Given the description of an element on the screen output the (x, y) to click on. 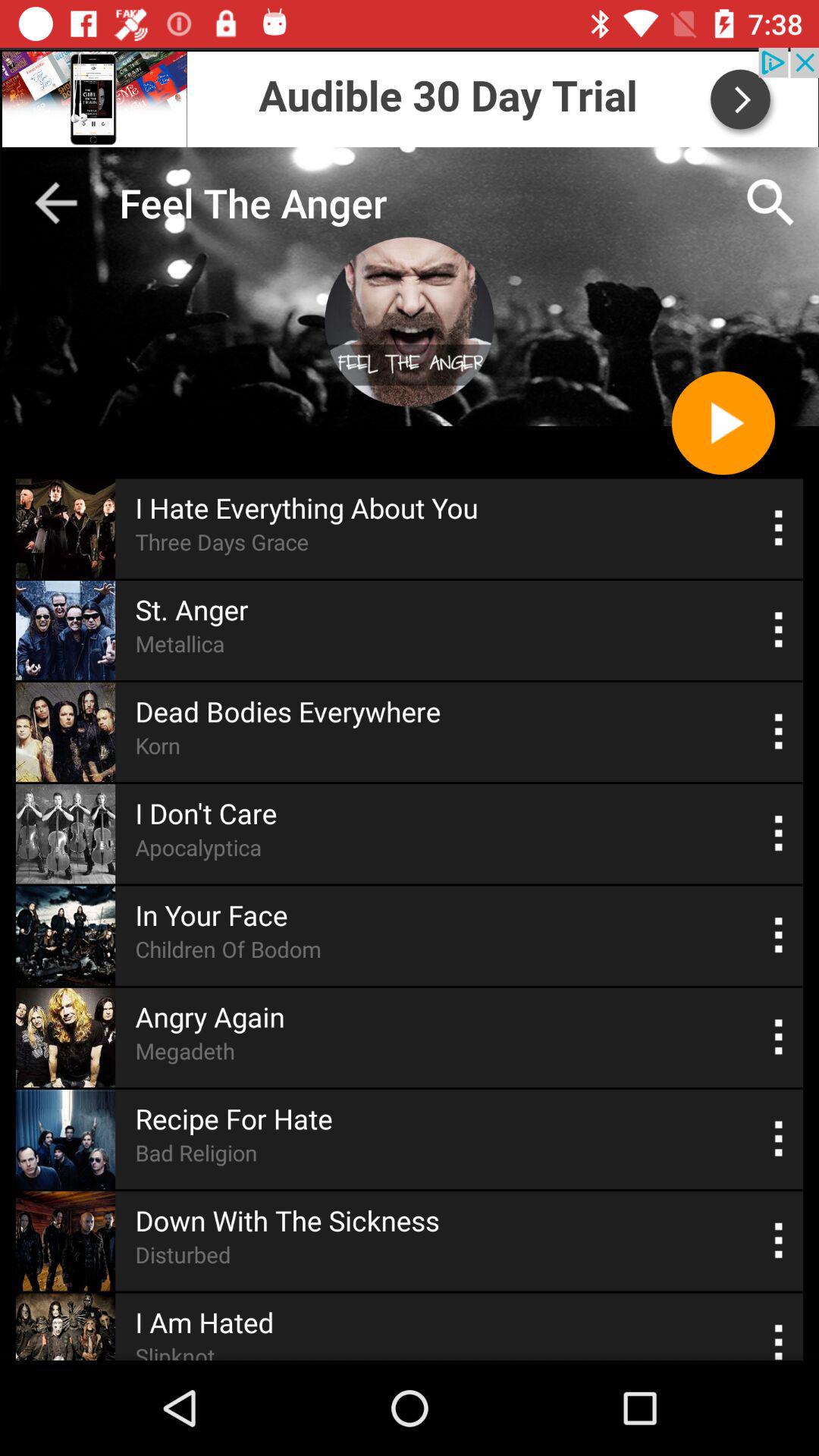
view details of song (779, 833)
